Given the description of an element on the screen output the (x, y) to click on. 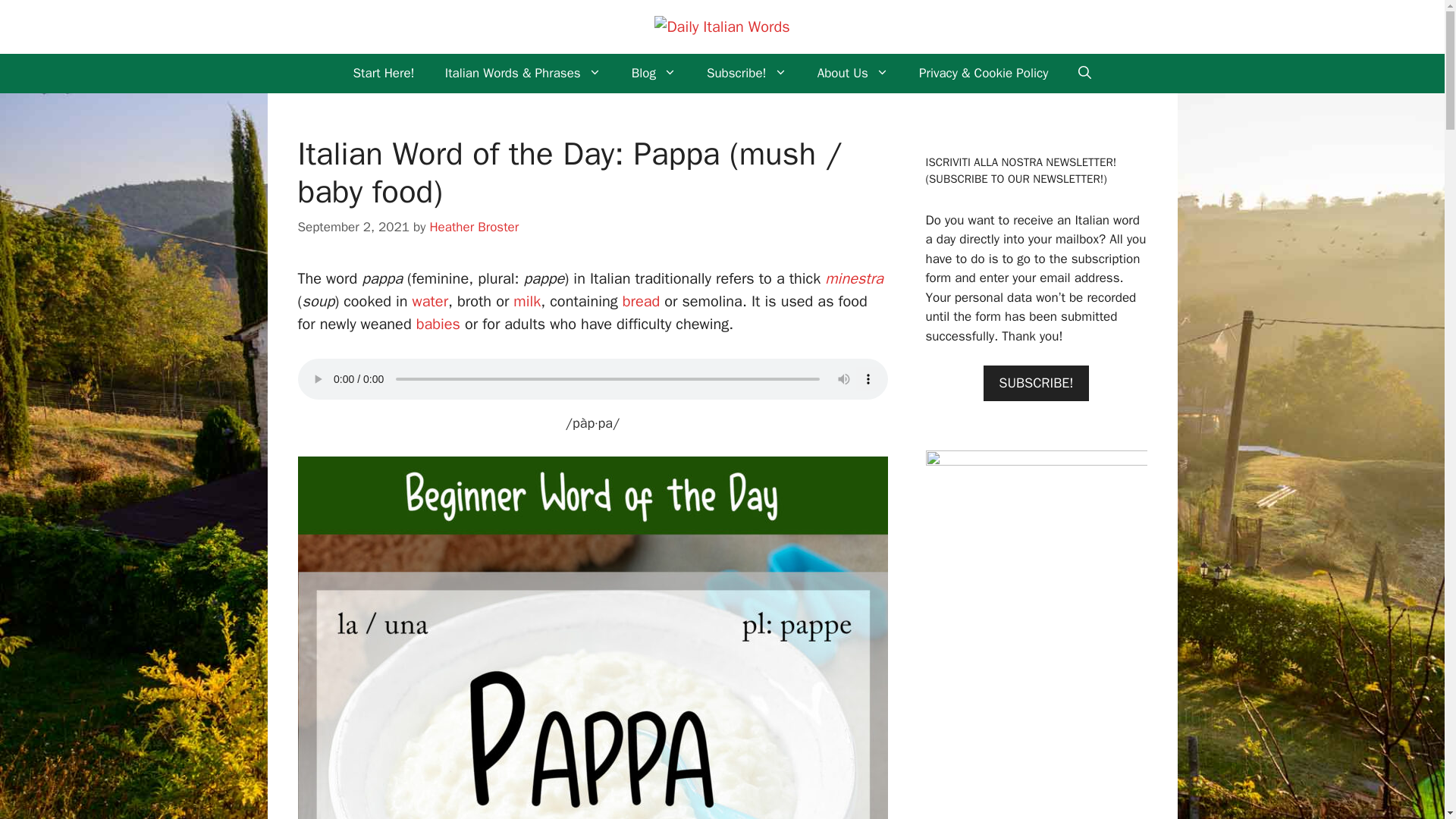
Subscribe! (746, 73)
Start Here! (383, 73)
View all posts by Heather Broster (473, 227)
Blog (653, 73)
About Us (853, 73)
